Given the description of an element on the screen output the (x, y) to click on. 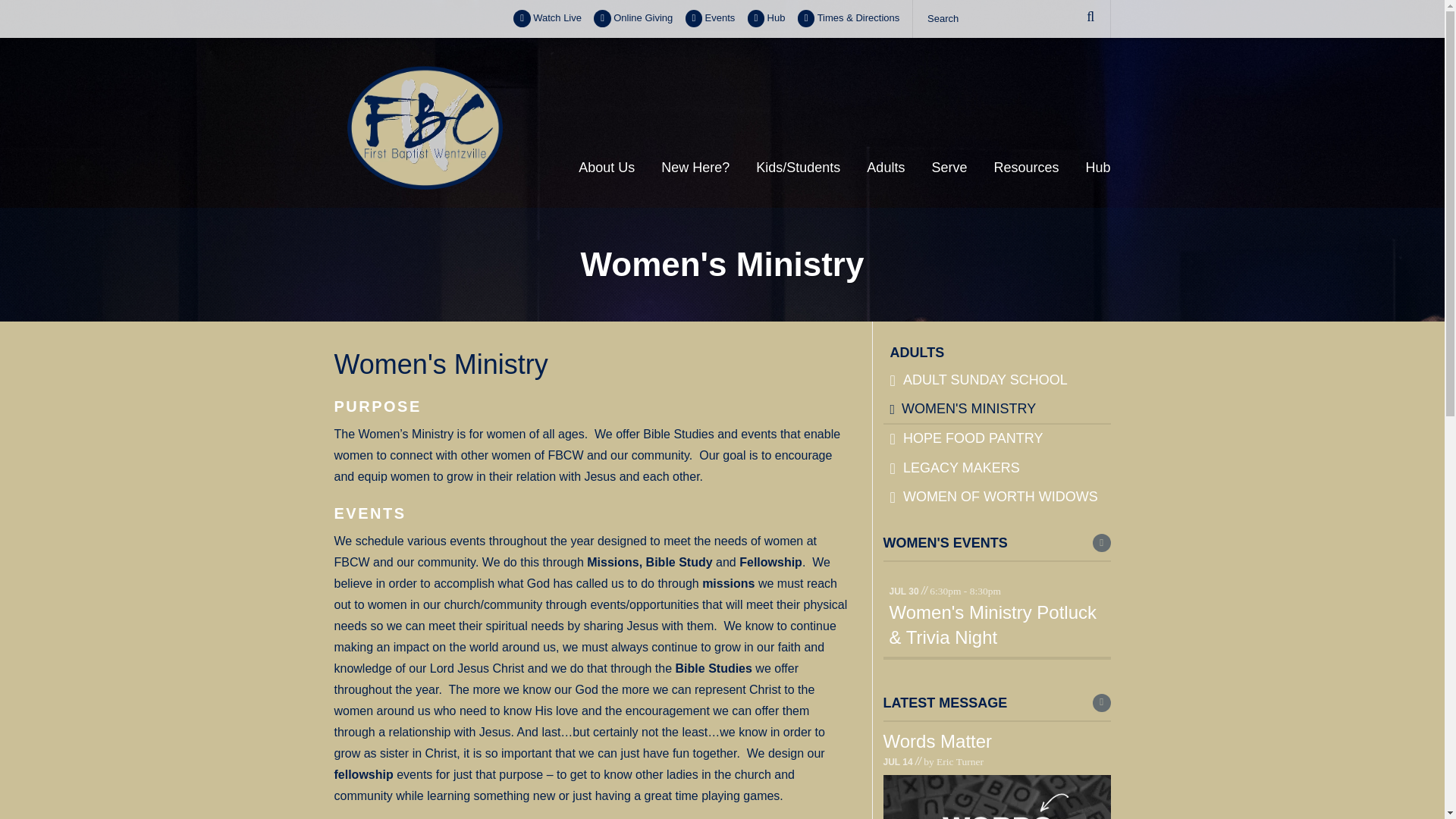
search (1010, 18)
Events (710, 18)
Hub (767, 18)
Watch Live (546, 18)
Online Giving (633, 18)
